Given the description of an element on the screen output the (x, y) to click on. 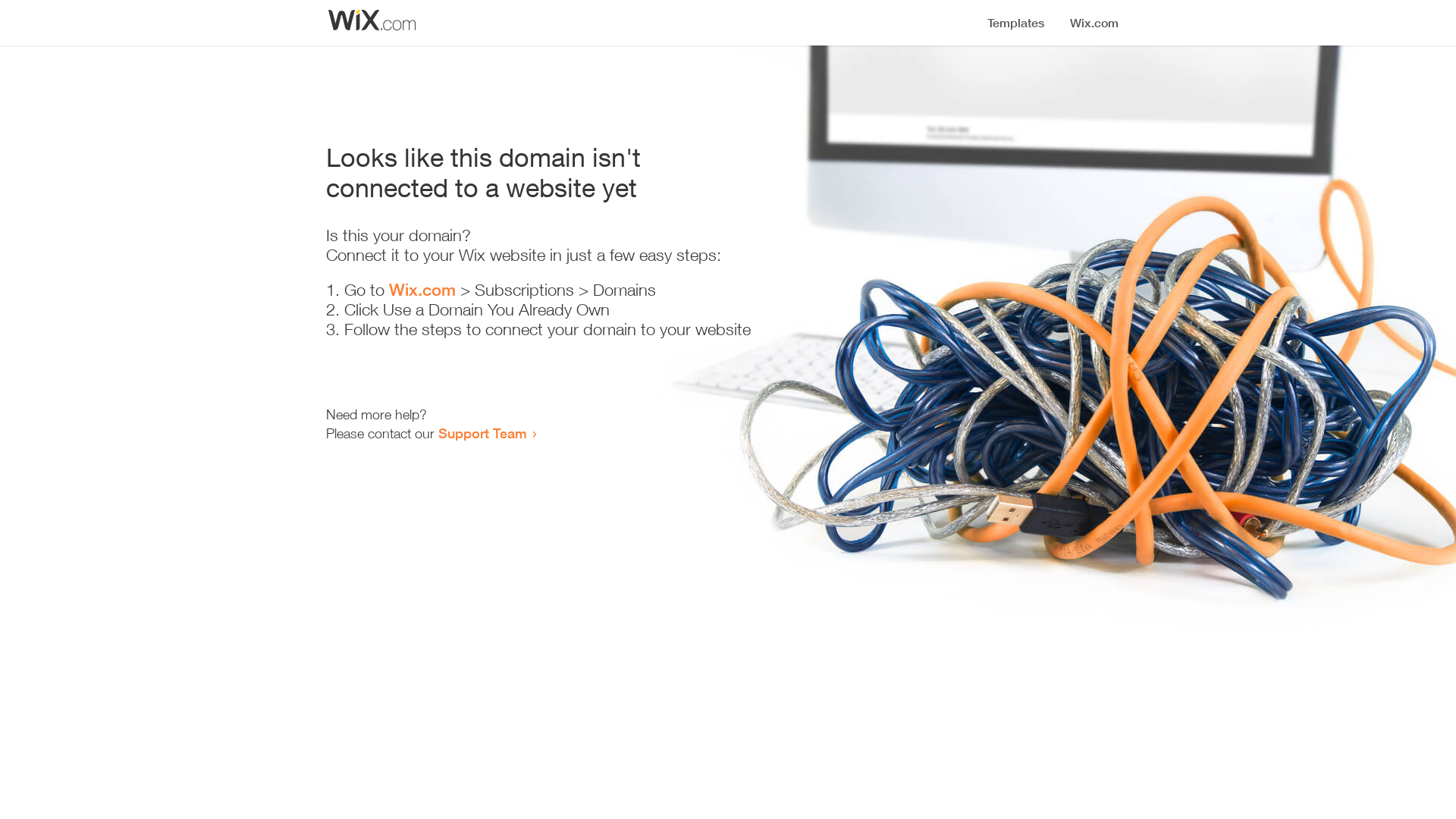
Wix.com Element type: text (422, 289)
Support Team Element type: text (482, 432)
